Given the description of an element on the screen output the (x, y) to click on. 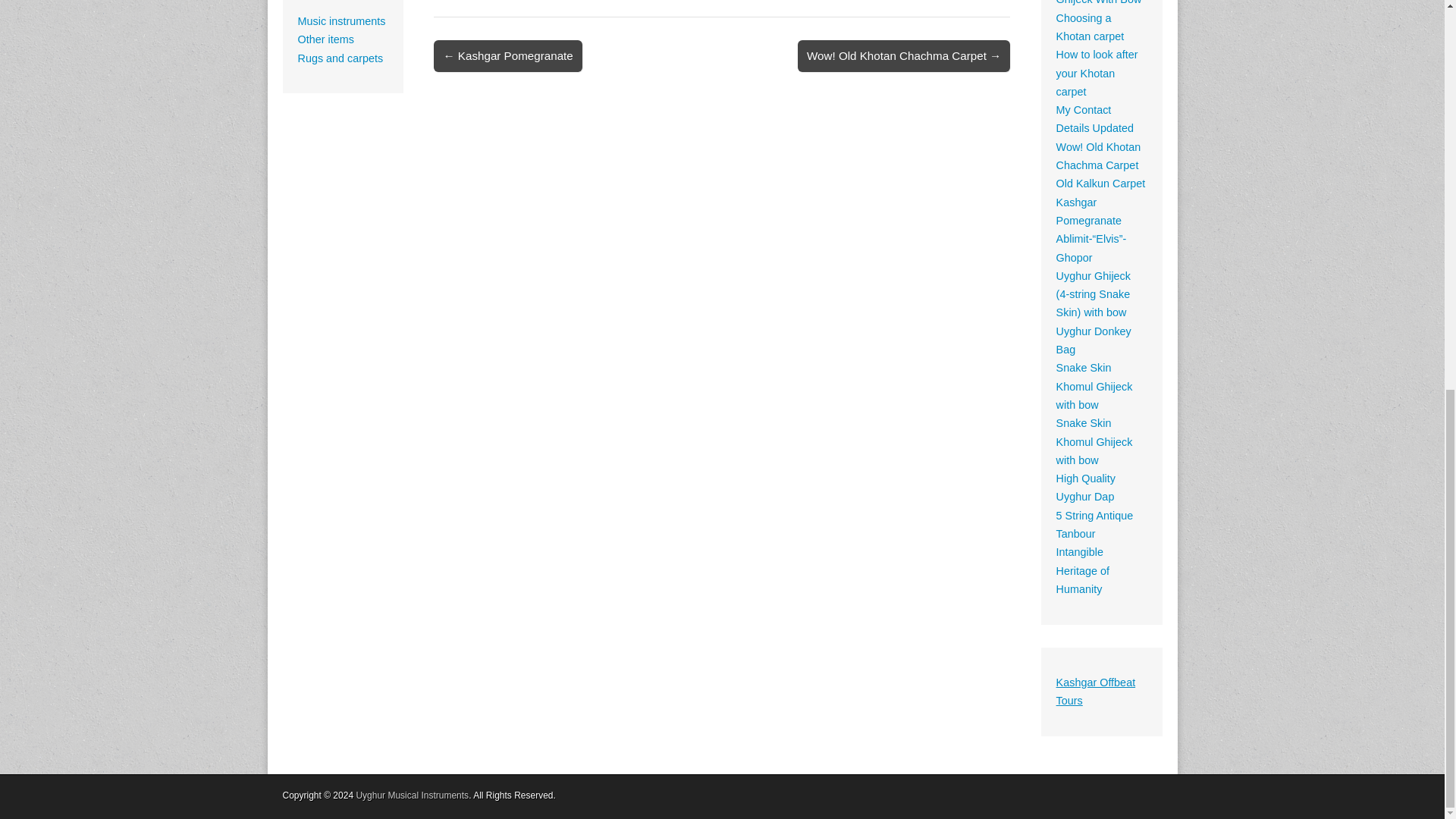
Other items (325, 39)
Old Kalkun Carpet (1101, 183)
5 String Antique Tanbour (1095, 524)
Snake Skin Khomul Ghijeck with bow (1094, 441)
Kashgar Pomegranate (1089, 211)
High Quality Uyghur Dap (1086, 487)
Uyghur Donkey Bag (1094, 340)
9 String Khomul Ghijeck With Bow (1099, 2)
Rugs and carpets (339, 58)
Snake Skin Khomul Ghijeck with bow (1094, 386)
Kashgar Offbeat Tours (1096, 691)
My Contact Details Updated (1095, 119)
Choosing a Khotan carpet (1090, 27)
How to look after your Khotan carpet (1097, 72)
Wow! Old Khotan Chachma Carpet (1099, 155)
